Given the description of an element on the screen output the (x, y) to click on. 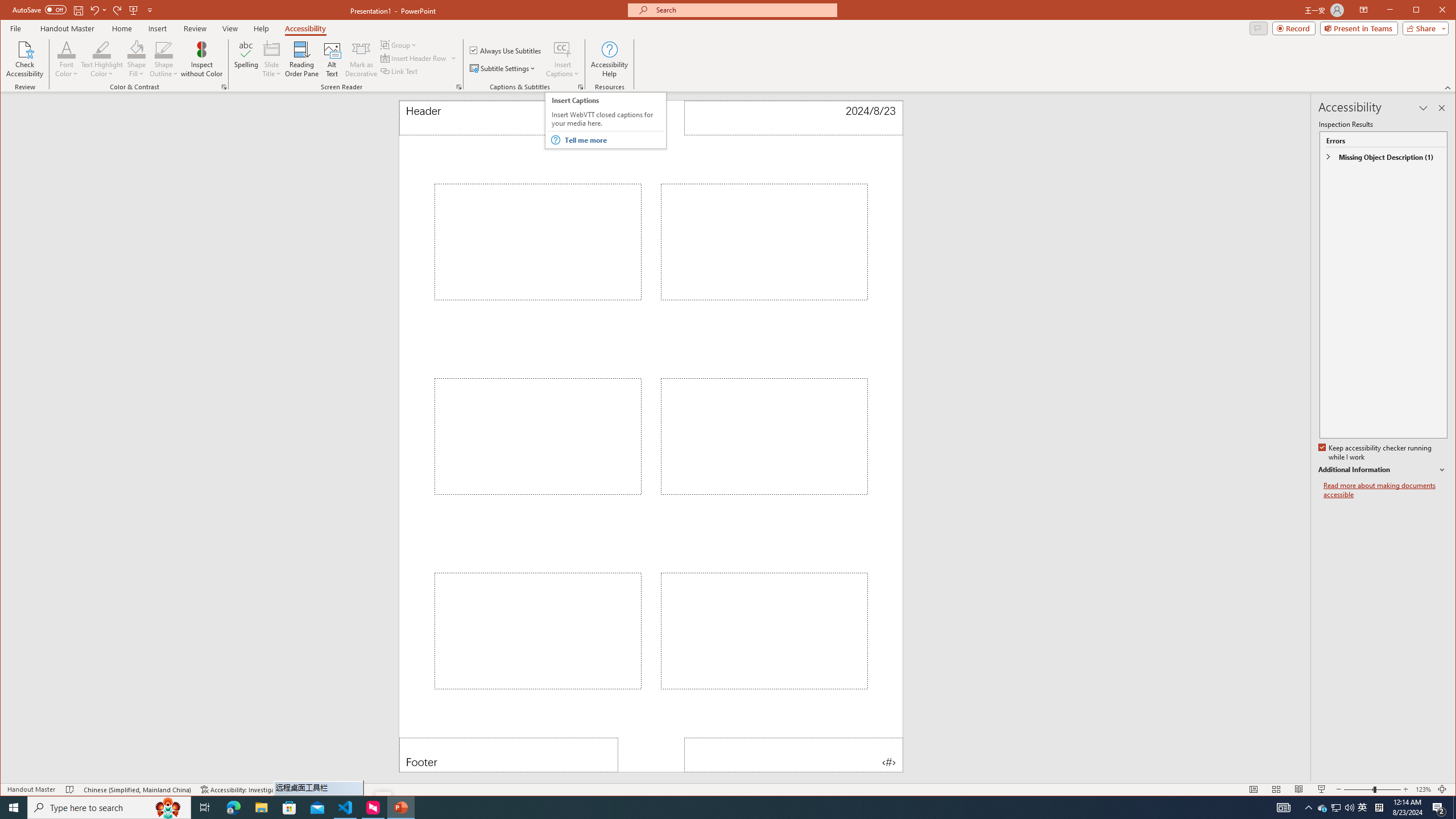
Additional Information (1382, 469)
Accessibility Help (608, 59)
Insert Captions (562, 59)
Shape Outline (163, 59)
Insert Captions (562, 48)
